Given the description of an element on the screen output the (x, y) to click on. 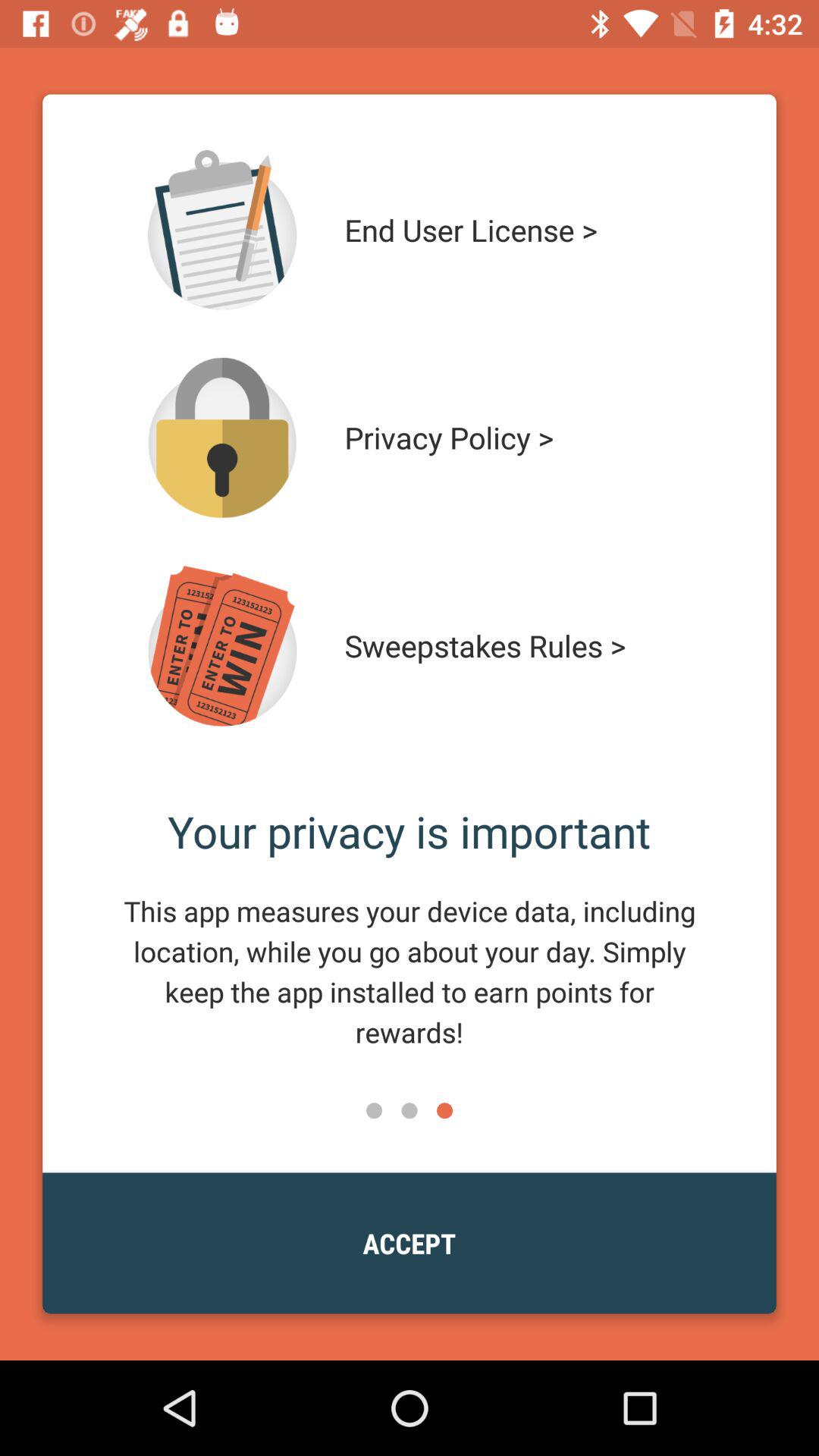
click the icon above privacy policy > icon (514, 229)
